Given the description of an element on the screen output the (x, y) to click on. 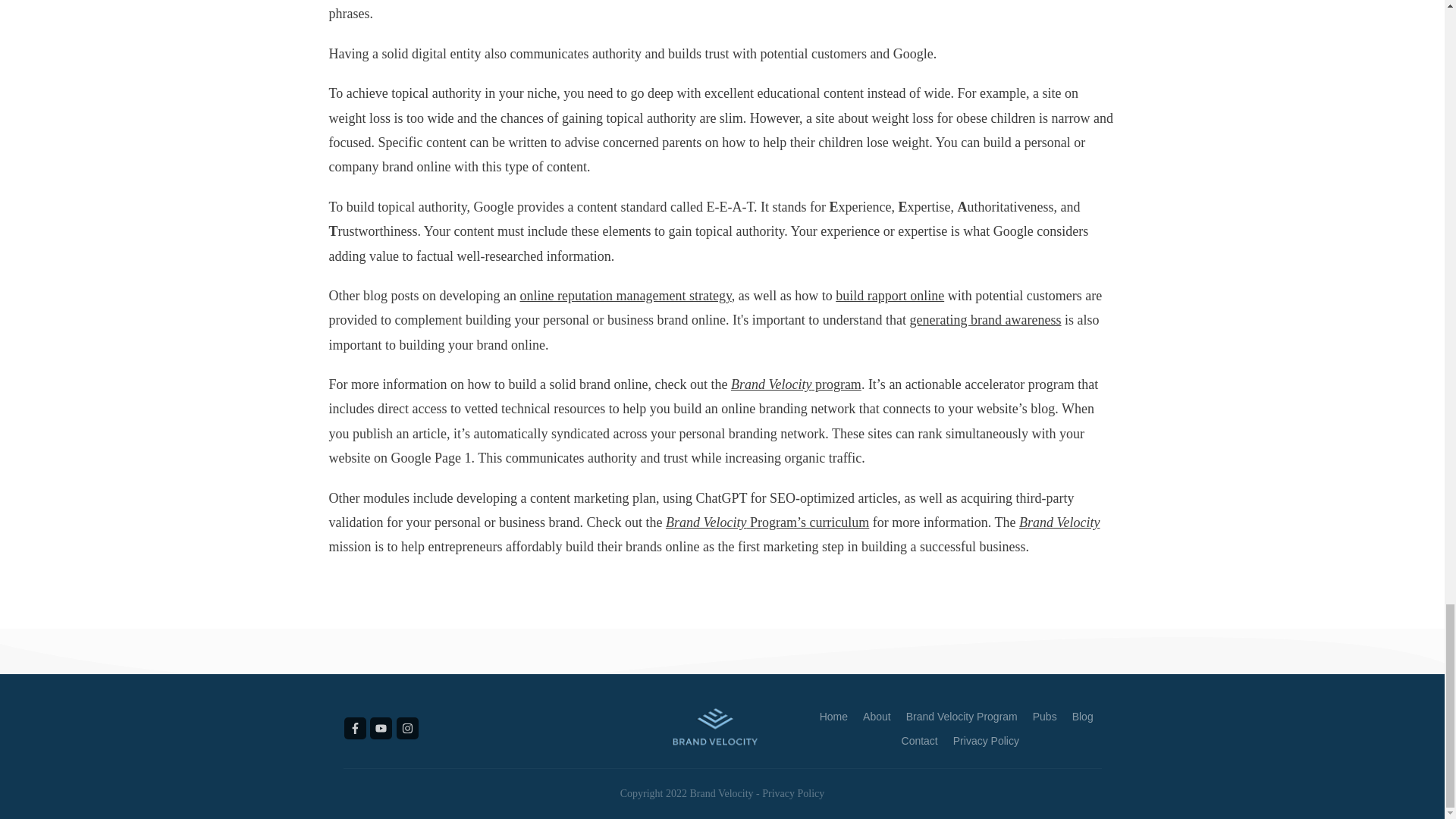
Home (833, 716)
Brand Velocity program (795, 384)
Brand Velocity (1059, 522)
generating brand awareness (985, 319)
build rapport online (889, 295)
online reputation management strategy (624, 295)
